Given the description of an element on the screen output the (x, y) to click on. 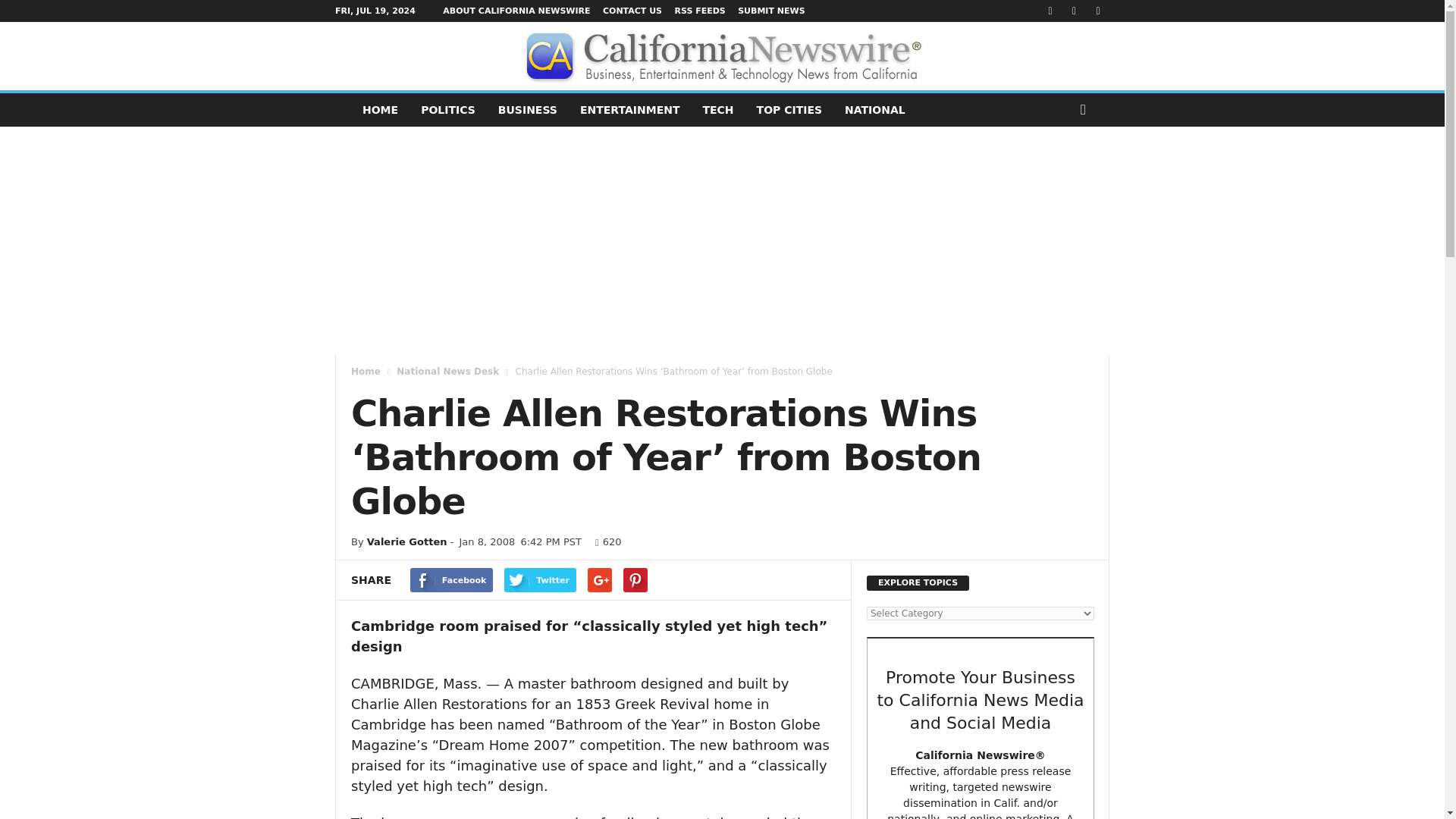
SUBMIT NEWS (771, 10)
ABOUT CALIFORNIA NEWSWIRE (515, 10)
POLITICS (447, 109)
RSS FEEDS (699, 10)
View all posts in National News Desk (447, 371)
CONTACT US (632, 10)
HOME (379, 109)
